Given the description of an element on the screen output the (x, y) to click on. 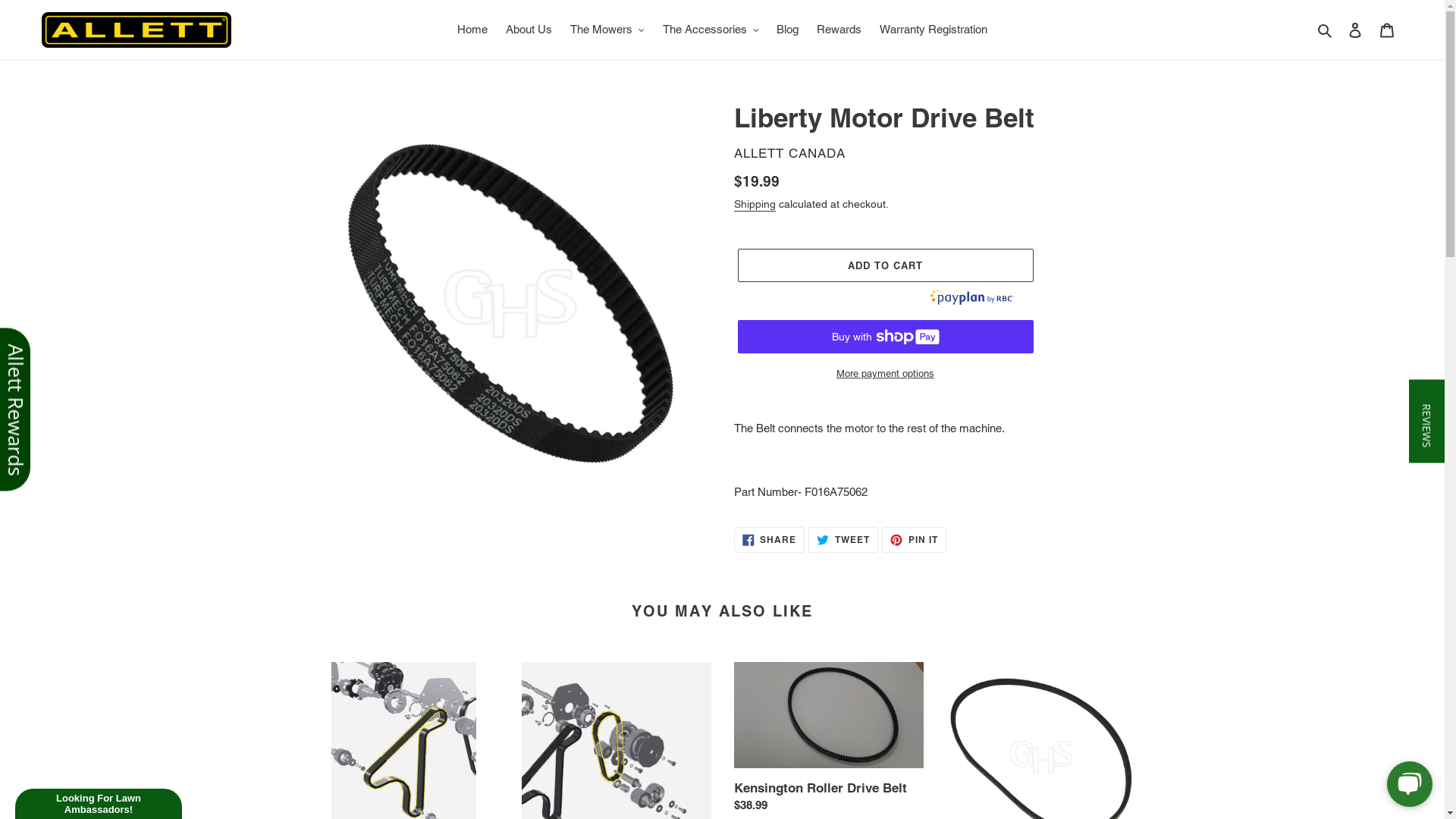
Home Element type: text (472, 29)
The Mowers Element type: text (607, 29)
Log in Element type: text (1355, 29)
ADD TO CART Element type: text (884, 265)
TWEET
TWEET ON TWITTER Element type: text (843, 539)
SHARE
SHARE ON FACEBOOK Element type: text (769, 539)
Warranty Registration Element type: text (933, 29)
PIN IT
PIN ON PINTEREST Element type: text (913, 539)
The Accessories Element type: text (710, 29)
About Us Element type: text (528, 29)
Rewards Element type: text (839, 29)
Cart Element type: text (1386, 29)
Shipping Element type: text (754, 204)
Blog Element type: text (787, 29)
Search Element type: text (1325, 29)
More payment options Element type: text (884, 373)
